Given the description of an element on the screen output the (x, y) to click on. 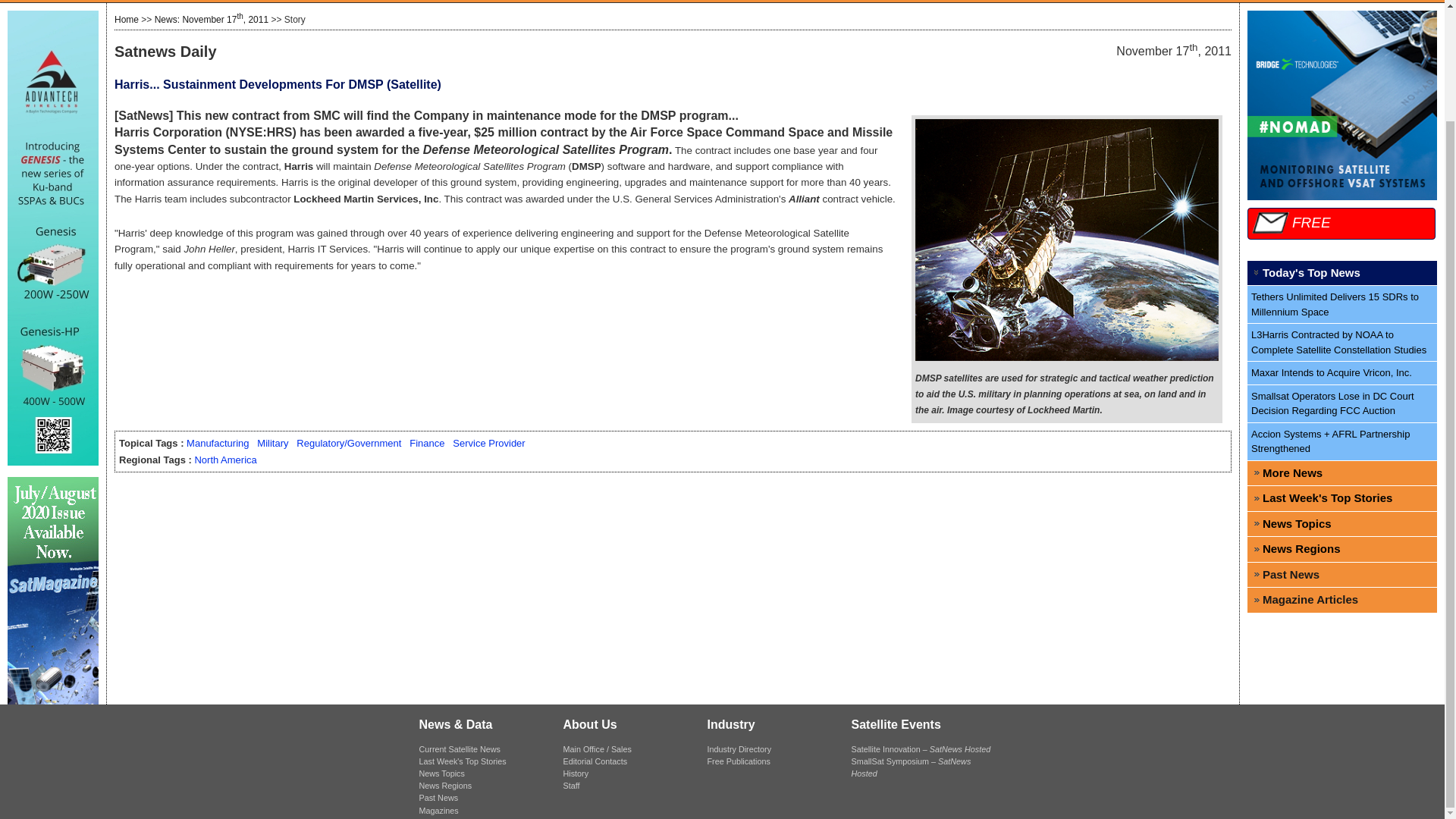
Tethers Unlimited Delivers 15 SDRs to Millennium Space (1342, 304)
Military (272, 442)
News: November 17th, 2011 (210, 19)
Maxar Intends to Acquire Vricon, Inc. (1342, 372)
Finance (426, 442)
Manufacturing (217, 442)
Service Provider (488, 442)
North America (224, 460)
